Given the description of an element on the screen output the (x, y) to click on. 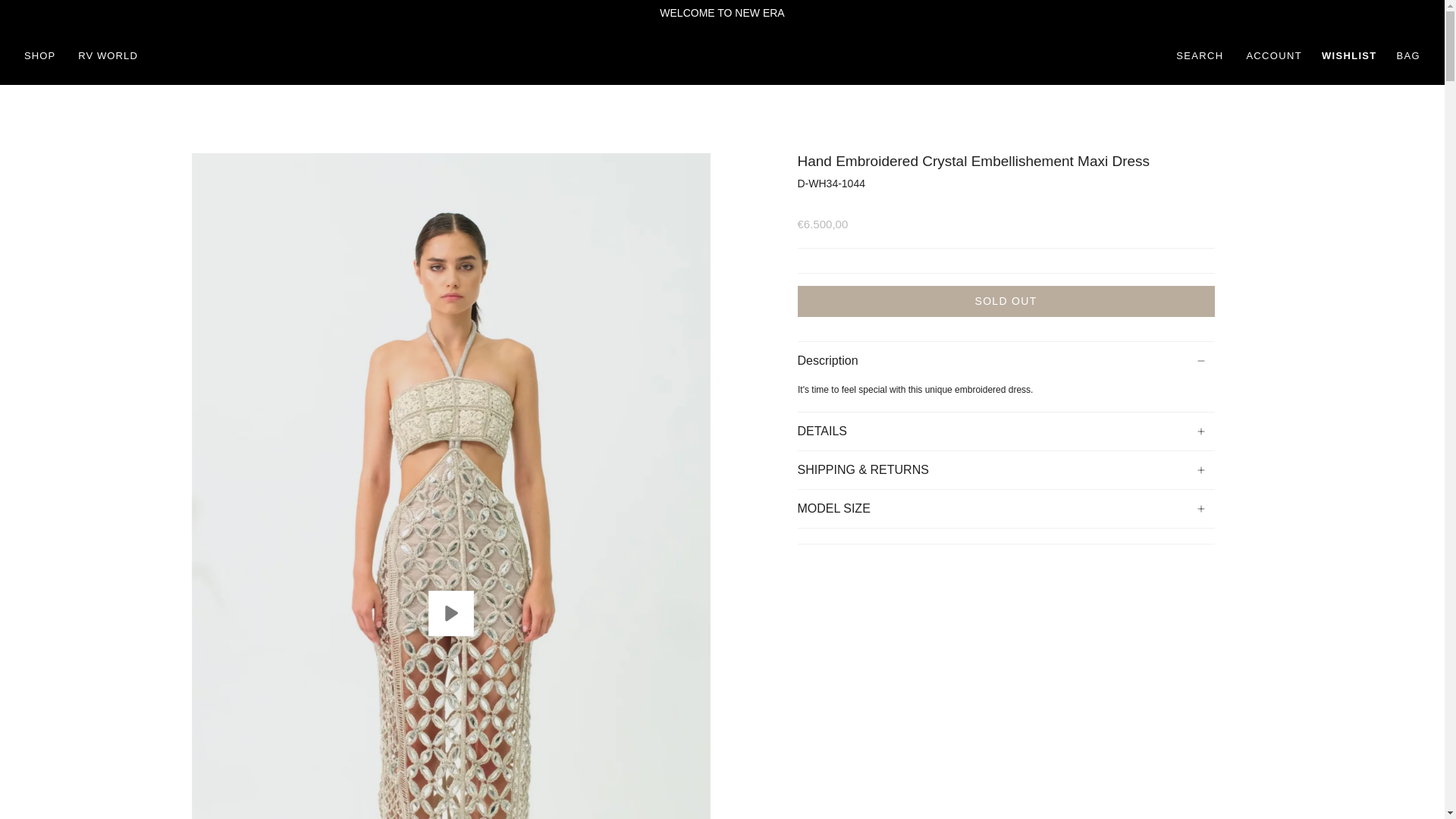
SHOP (39, 55)
My Account (1273, 55)
Bag (1408, 55)
Search (1199, 55)
